Given the description of an element on the screen output the (x, y) to click on. 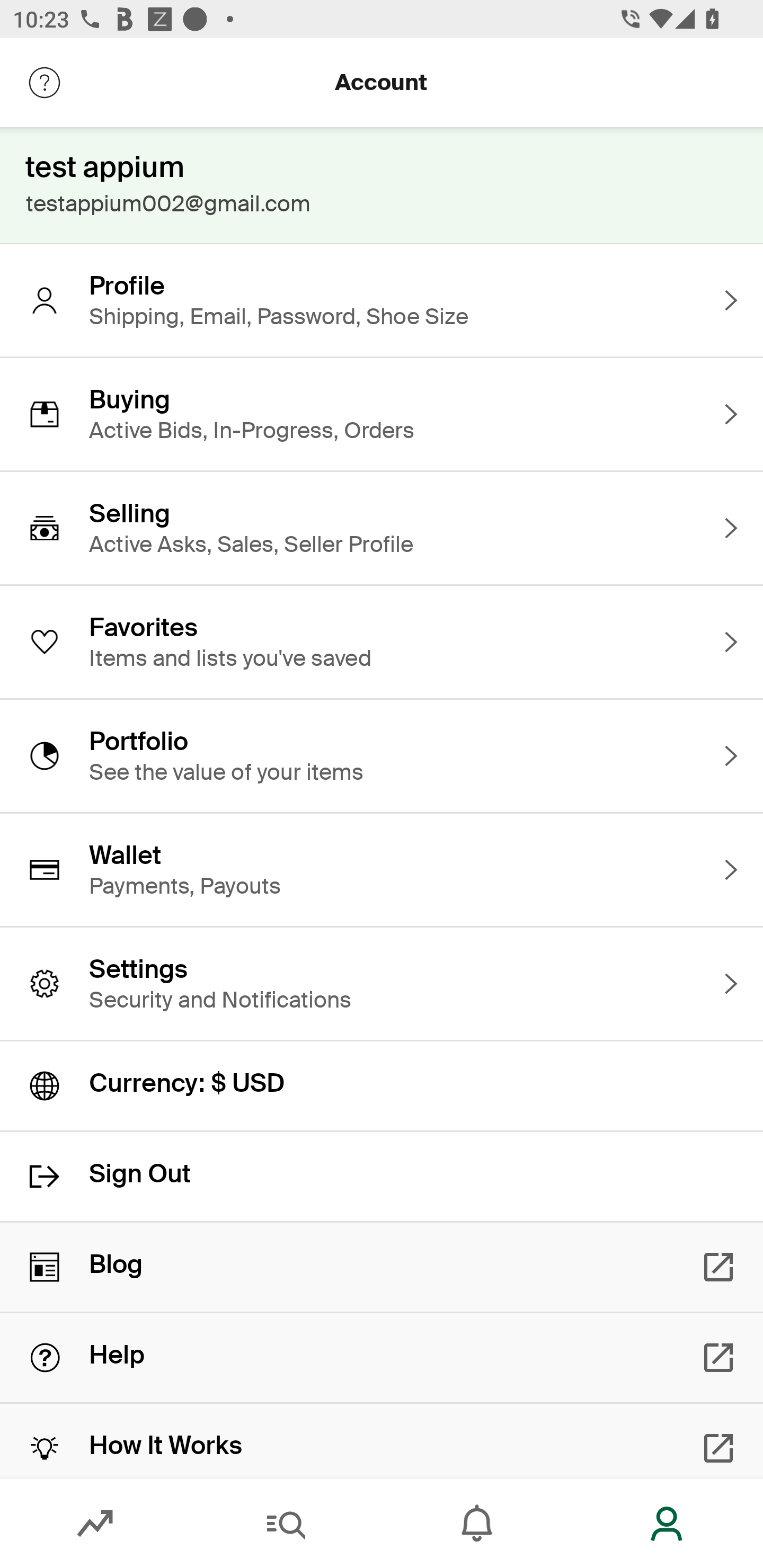
Profile Shipping, Email, Password, Shoe Size (381, 299)
Buying Active Bids, In-Progress, Orders (381, 413)
Selling Active Asks, Sales, Seller Profile (381, 527)
Favorites Items and lists you've saved (381, 641)
Portfolio See the value of your items (381, 755)
Wallet Payments, Payouts (381, 869)
Settings Security and Notifications (381, 983)
Currency: $ USD (381, 1085)
Sign Out (381, 1176)
Blog (381, 1266)
Help (381, 1357)
How It Works (381, 1440)
Market (95, 1523)
Search (285, 1523)
Inbox (476, 1523)
